Given the description of an element on the screen output the (x, y) to click on. 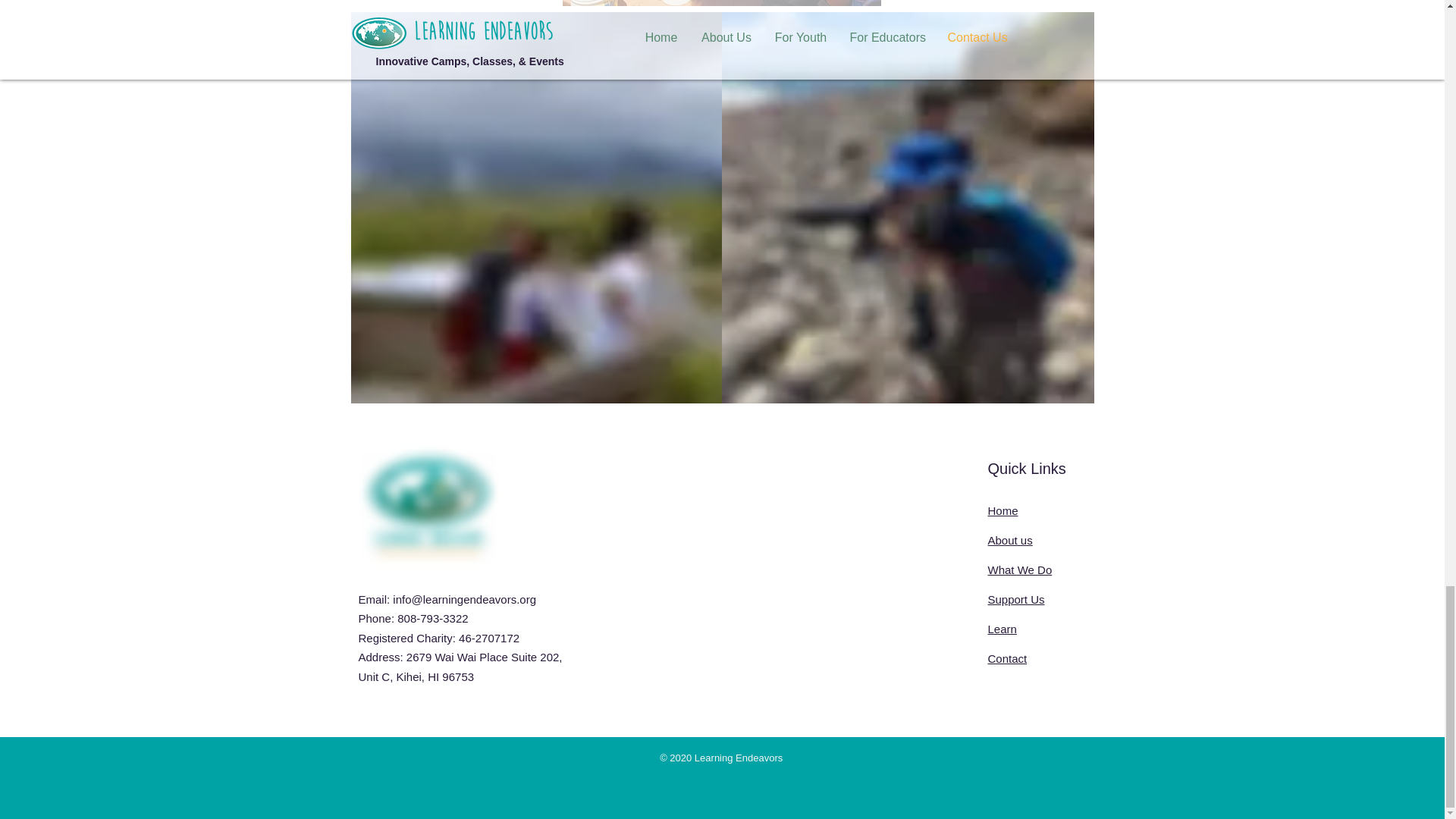
Support Us (1015, 599)
Untitled design.png (426, 504)
Home (1002, 510)
What We Do (1019, 569)
Learn (1001, 628)
About us (1009, 540)
Contact (1006, 658)
